Given the description of an element on the screen output the (x, y) to click on. 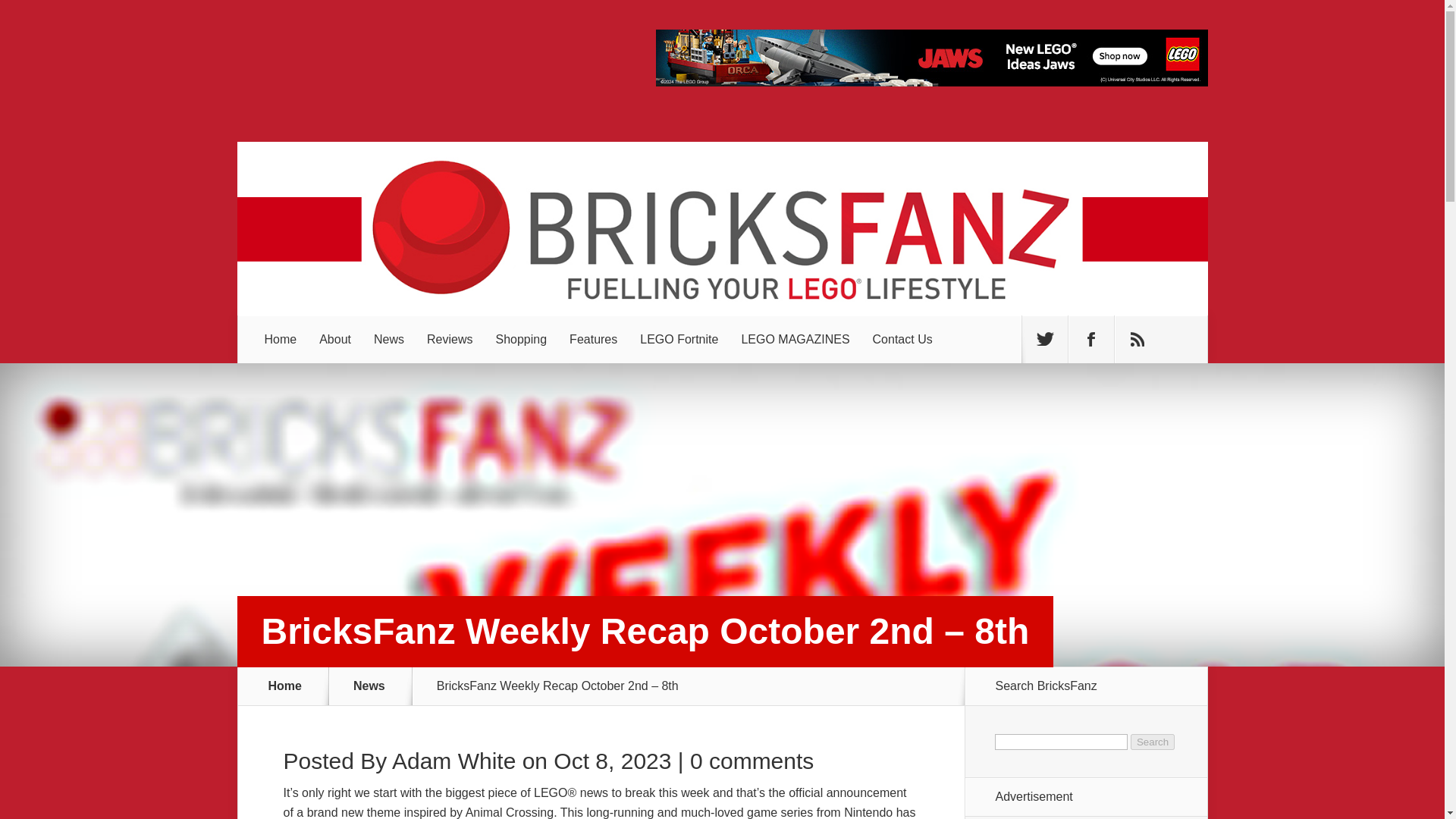
News (388, 339)
About (334, 339)
Adam White (453, 760)
LEGO Fortnite (678, 339)
Subscribe To Rss Feed (1137, 339)
News (378, 686)
Home (285, 686)
Follow us on Twitter (1044, 339)
Home (280, 339)
Shopping (520, 339)
